Given the description of an element on the screen output the (x, y) to click on. 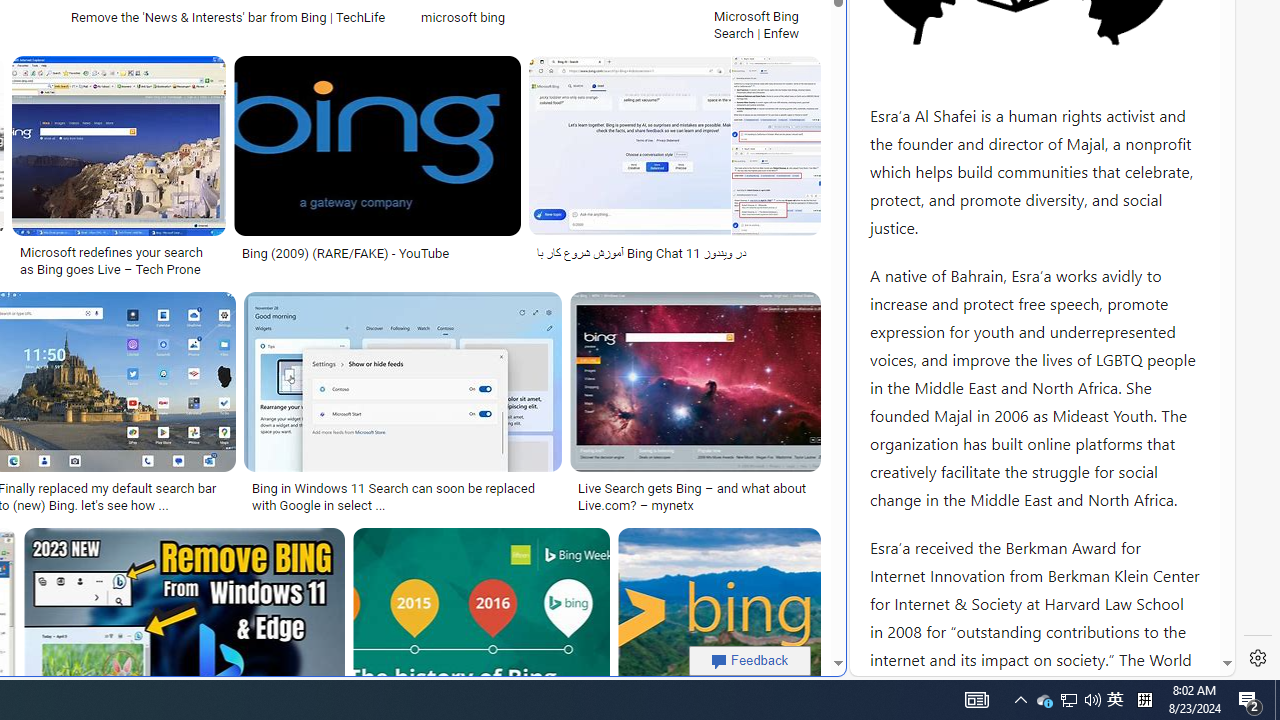
Bing (2009) (RARE/FAKE) - YouTubeSave (381, 169)
Bing (2009) (RARE/FAKE) - YouTube (345, 253)
Remove the 'News & Interests' bar from Bing | TechLife (233, 16)
google_privacy_policy_zh-CN.pdf (687, 482)
Actions for this site (1129, 306)
